Given the description of an element on the screen output the (x, y) to click on. 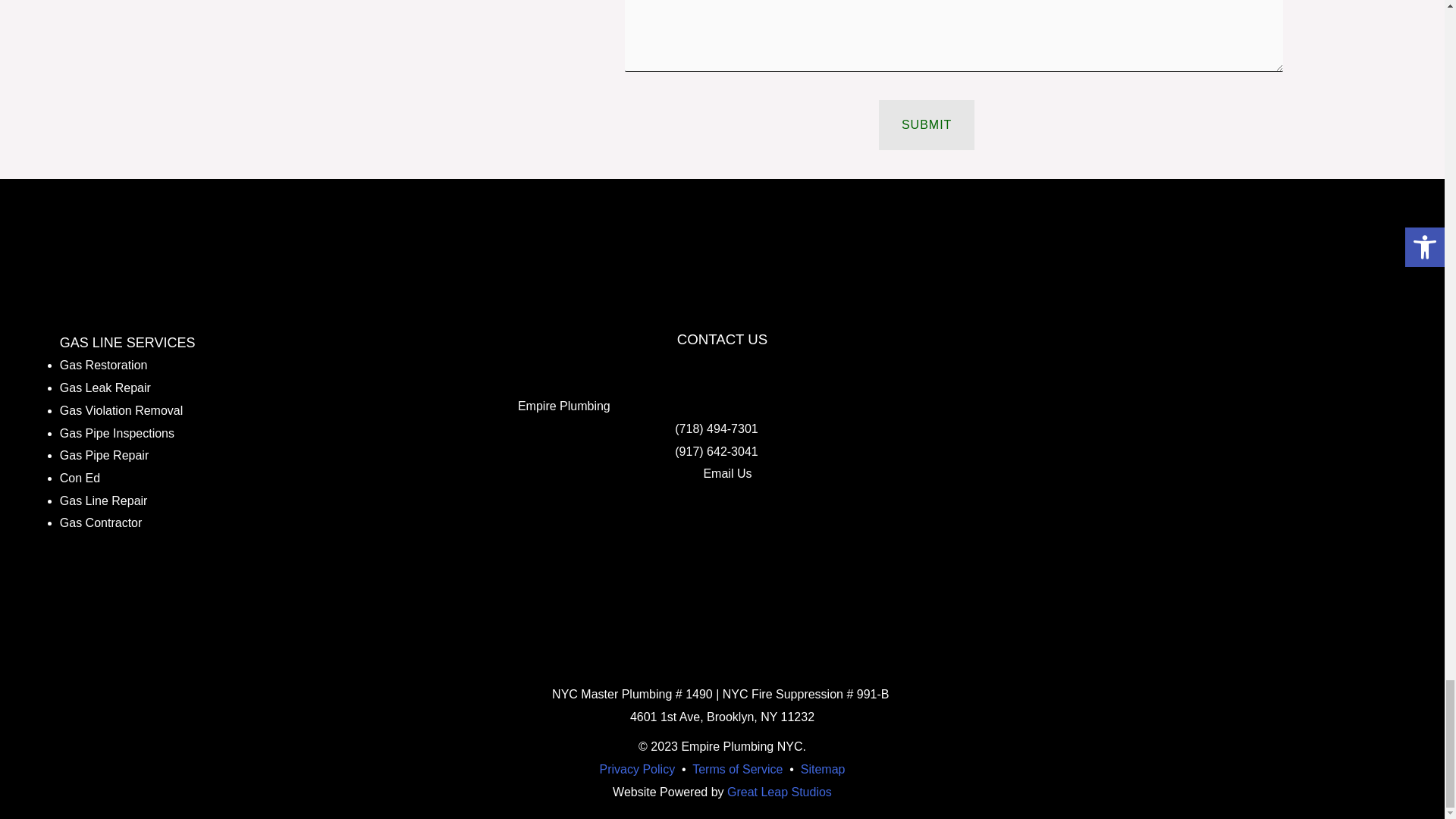
Submit (926, 124)
